Given the description of an element on the screen output the (x, y) to click on. 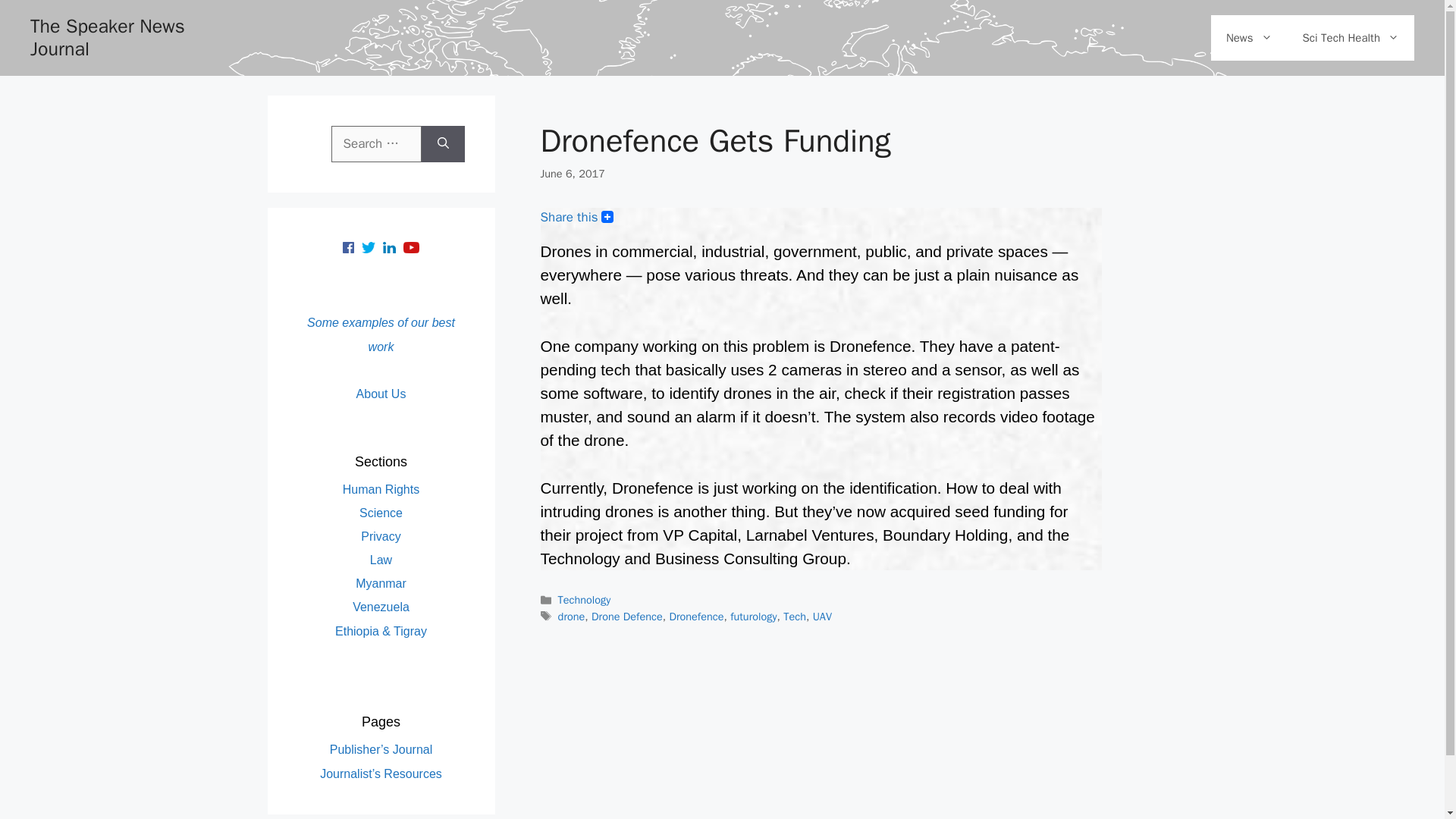
Technology (584, 599)
Sci Tech Health (1350, 37)
Search for: (375, 144)
Drone Defence (626, 616)
drone (571, 616)
About Us (381, 393)
Venezuela (380, 606)
Myanmar (380, 583)
Law (380, 559)
Science (381, 512)
